Given the description of an element on the screen output the (x, y) to click on. 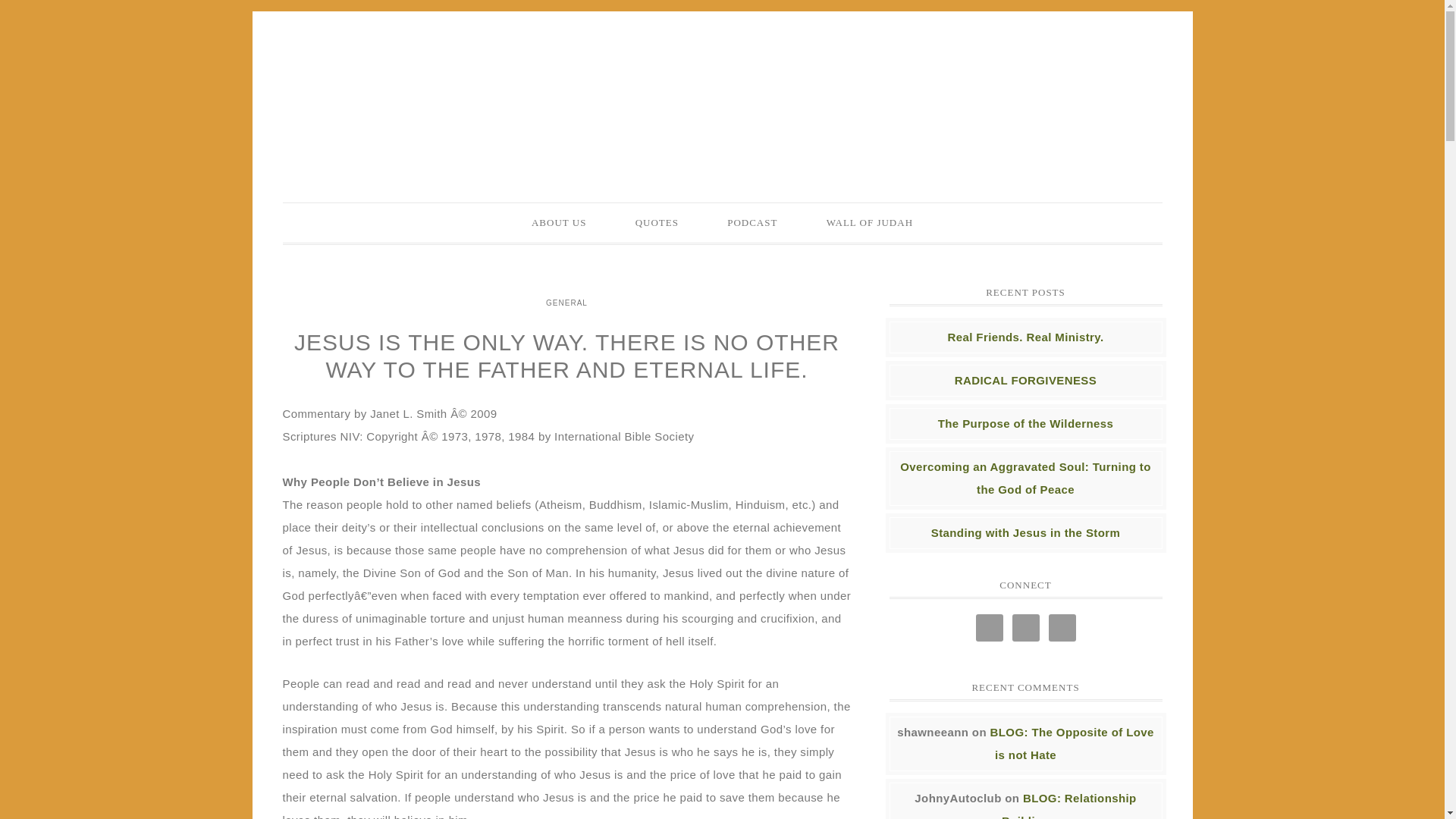
GARDEN MINISTRIES (721, 92)
ABOUT US (558, 222)
The Purpose of the Wilderness (1025, 422)
Real Friends. Real Ministry. (1025, 336)
QUOTES (656, 222)
RADICAL FORGIVENESS (1025, 379)
WALL OF JUDAH (869, 222)
BLOG: Relationship Building (1069, 805)
PODCAST (751, 222)
Overcoming an Aggravated Soul: Turning to the God of Peace (1025, 478)
